Given the description of an element on the screen output the (x, y) to click on. 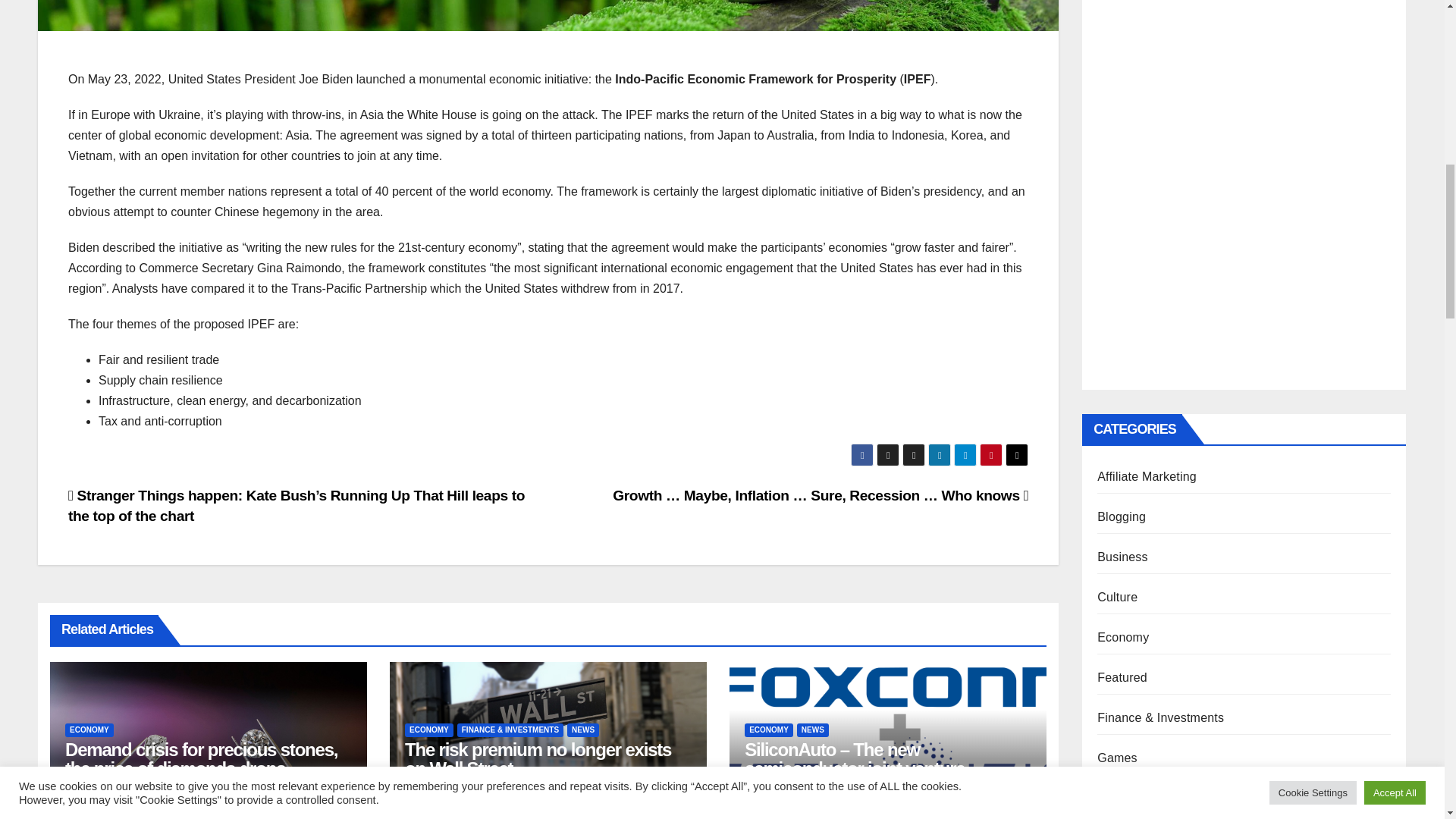
ECONOMY (89, 730)
